Given the description of an element on the screen output the (x, y) to click on. 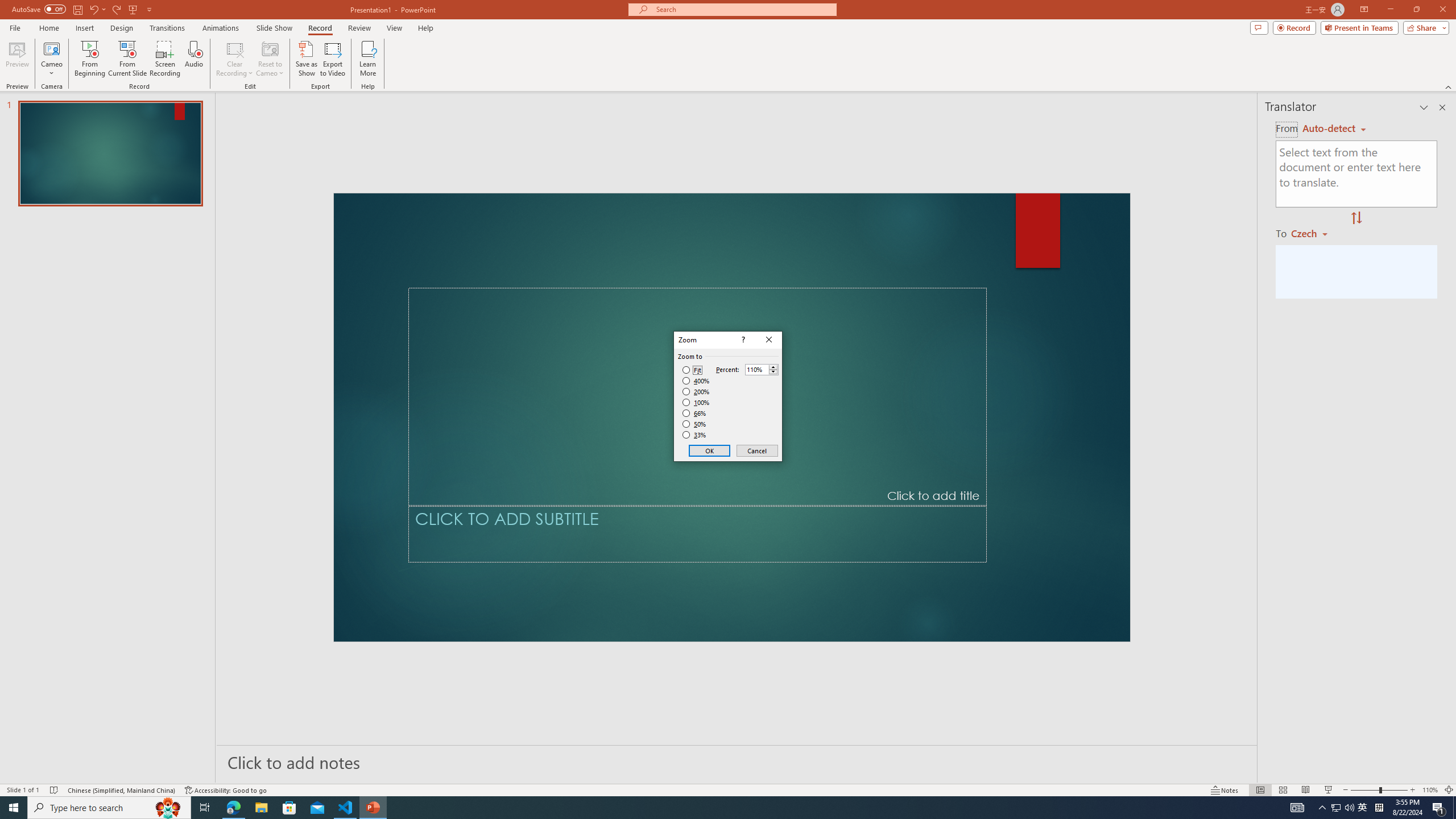
Learn More (368, 58)
Save as Show (306, 58)
